Given the description of an element on the screen output the (x, y) to click on. 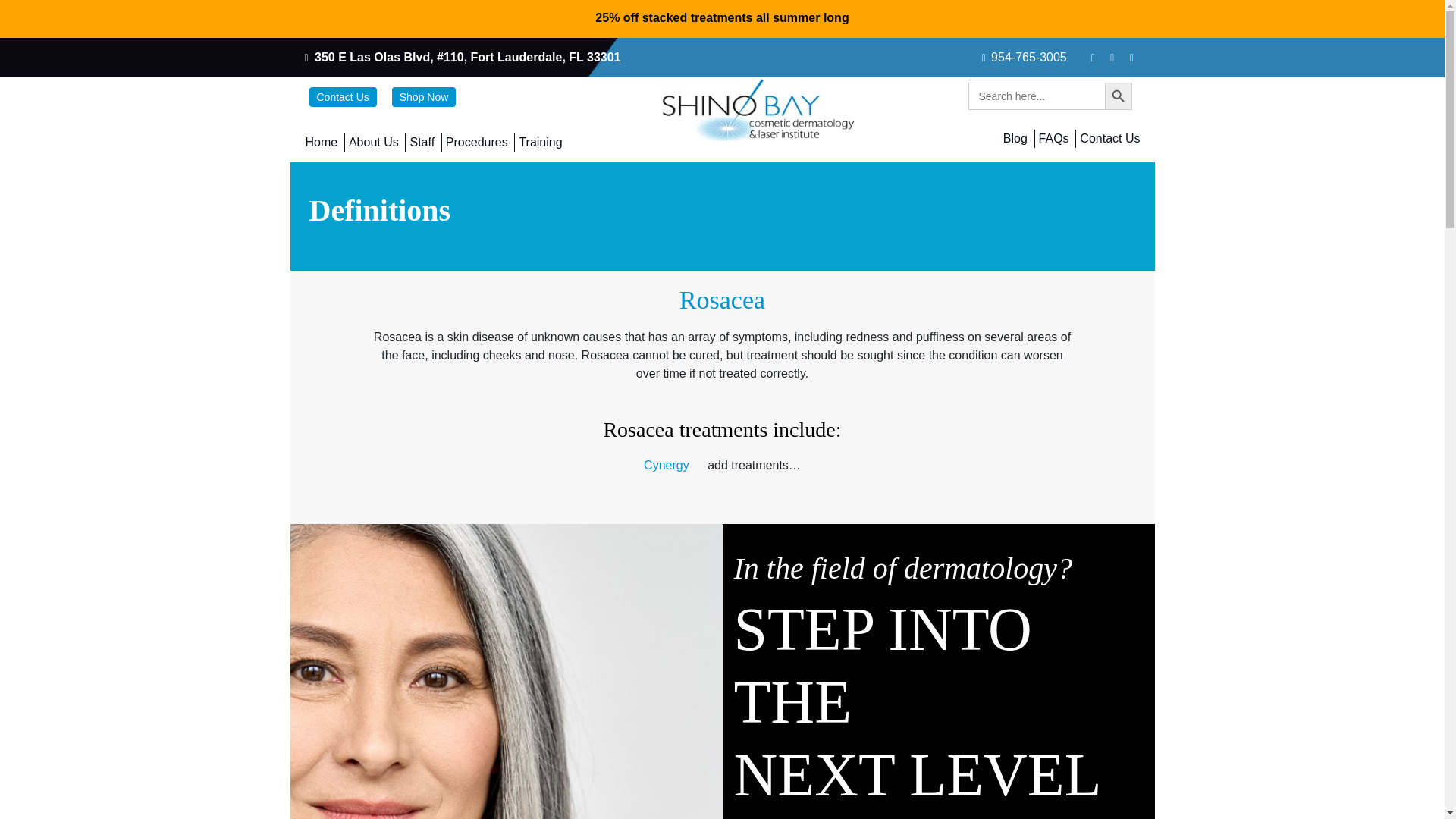
Staff (421, 142)
954-765-3005 (1029, 56)
About Us (372, 142)
Contact Us (342, 96)
Shop Now (424, 96)
Home (320, 142)
Procedures (476, 142)
